Given the description of an element on the screen output the (x, y) to click on. 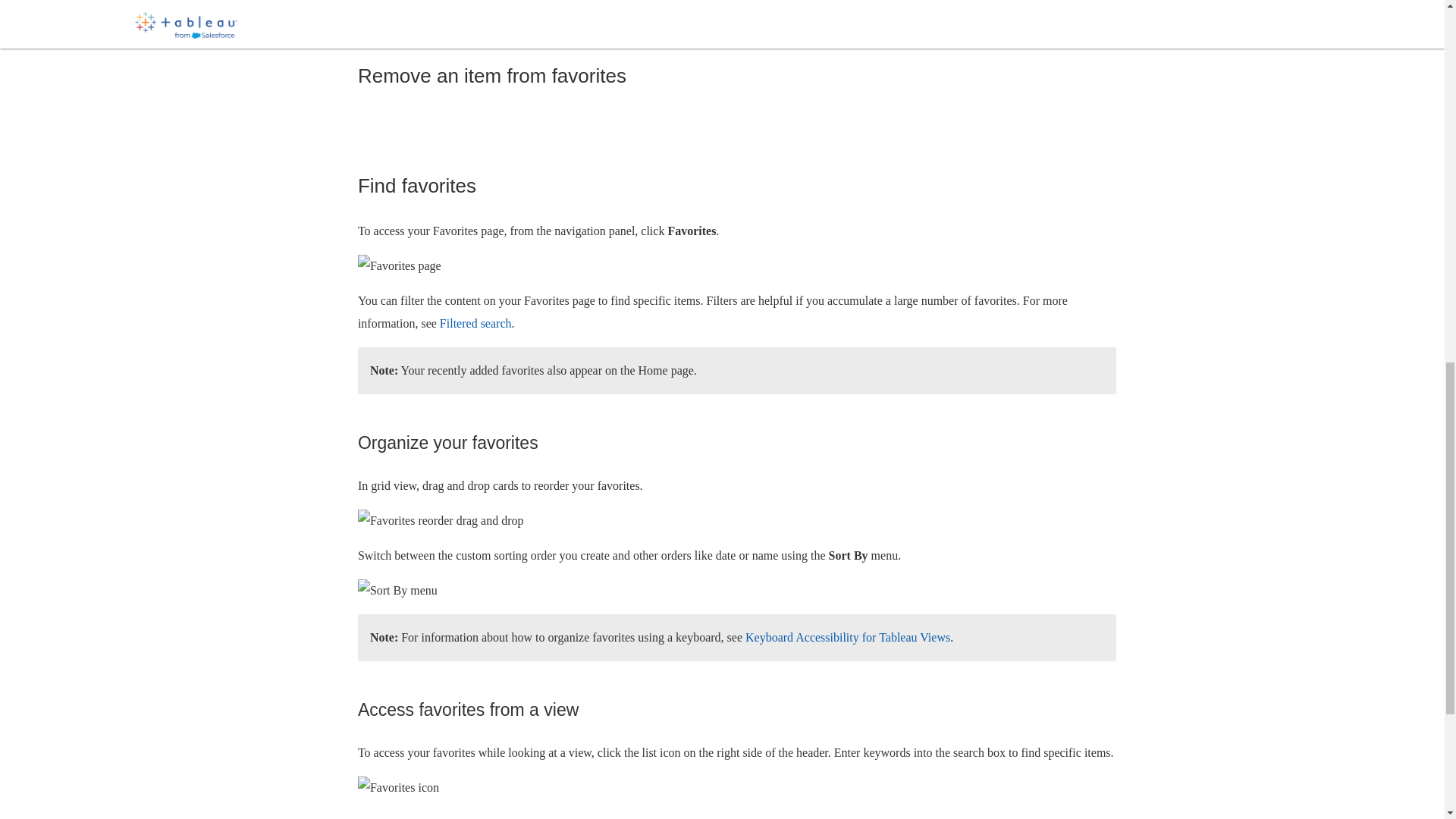
Keyboard Accessibility for Tableau Views (847, 636)
Filtered search (475, 323)
